Given the description of an element on the screen output the (x, y) to click on. 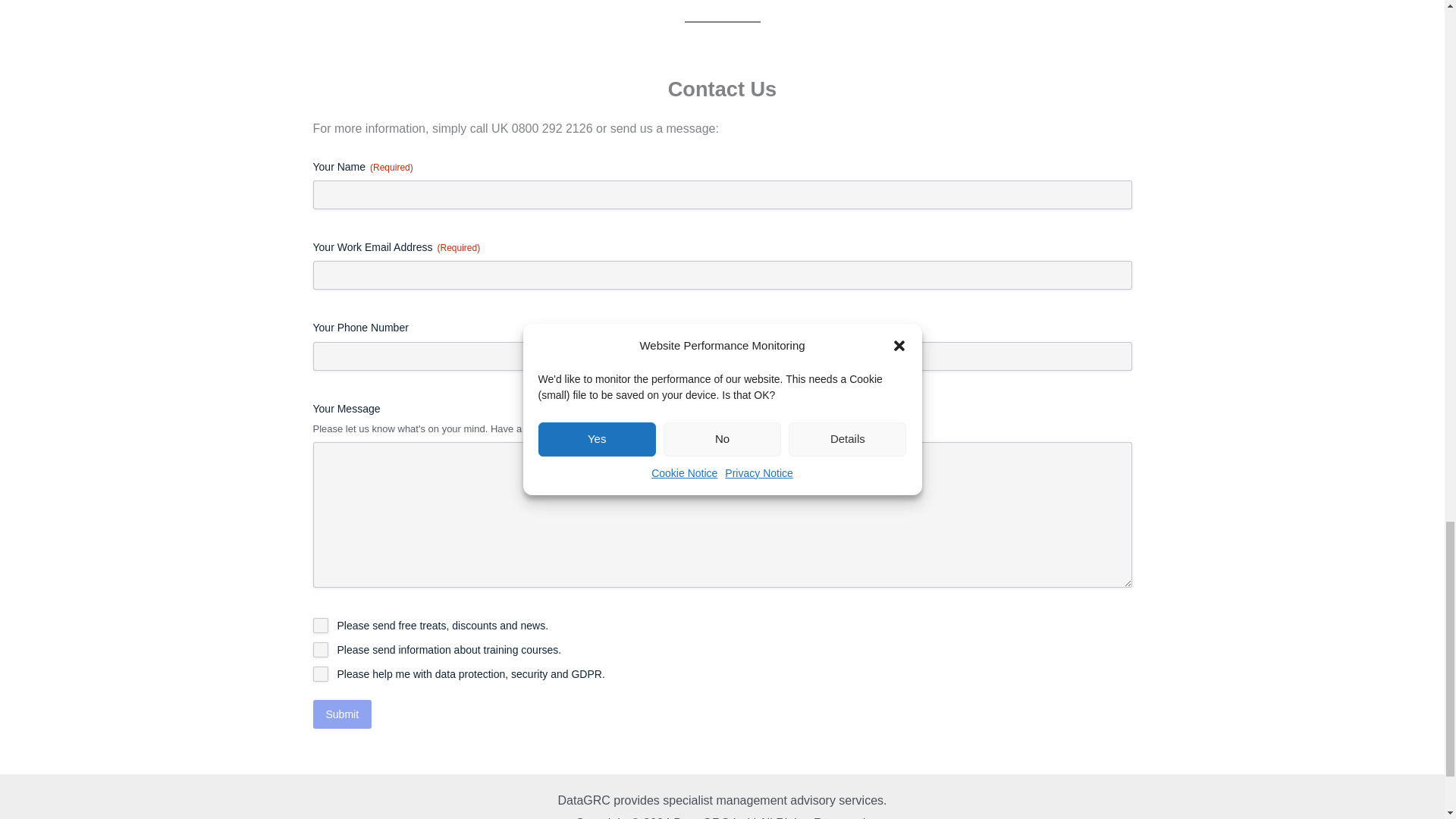
Please send information about training courses. (320, 649)
Submit (342, 714)
Please help me with data protection, security and GDPR. (320, 673)
Please send free treats, discounts and news. (320, 625)
